Given the description of an element on the screen output the (x, y) to click on. 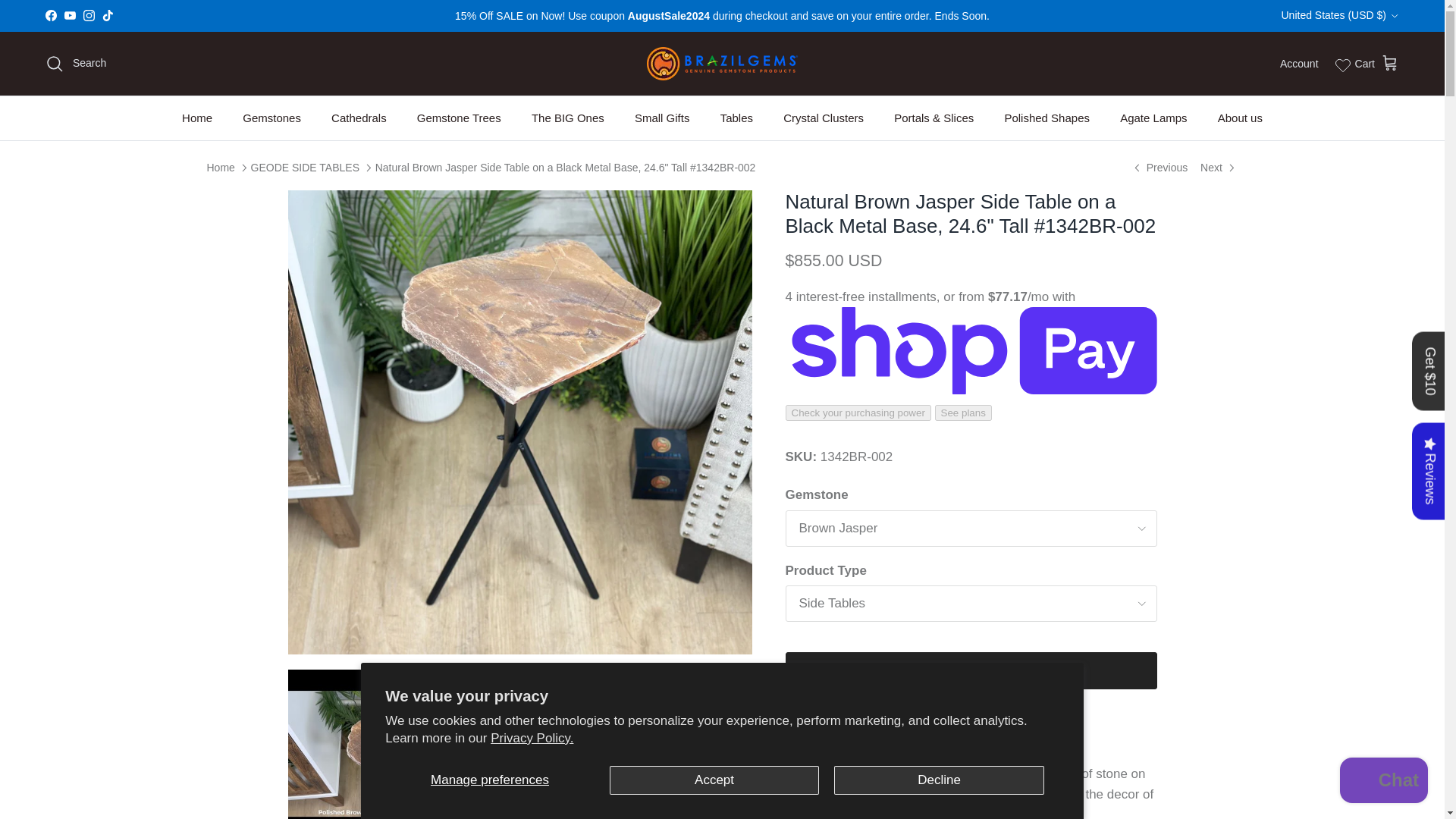
Brazil Gems (721, 63)
Privacy Policy. (531, 738)
Facebook (50, 15)
Account (1299, 63)
Decline (938, 779)
Shopify online store chat (1383, 781)
Brazil Gems on Instagram (88, 15)
Instagram (88, 15)
TikTok (107, 15)
Brazil Gems on Facebook (50, 15)
